Given the description of an element on the screen output the (x, y) to click on. 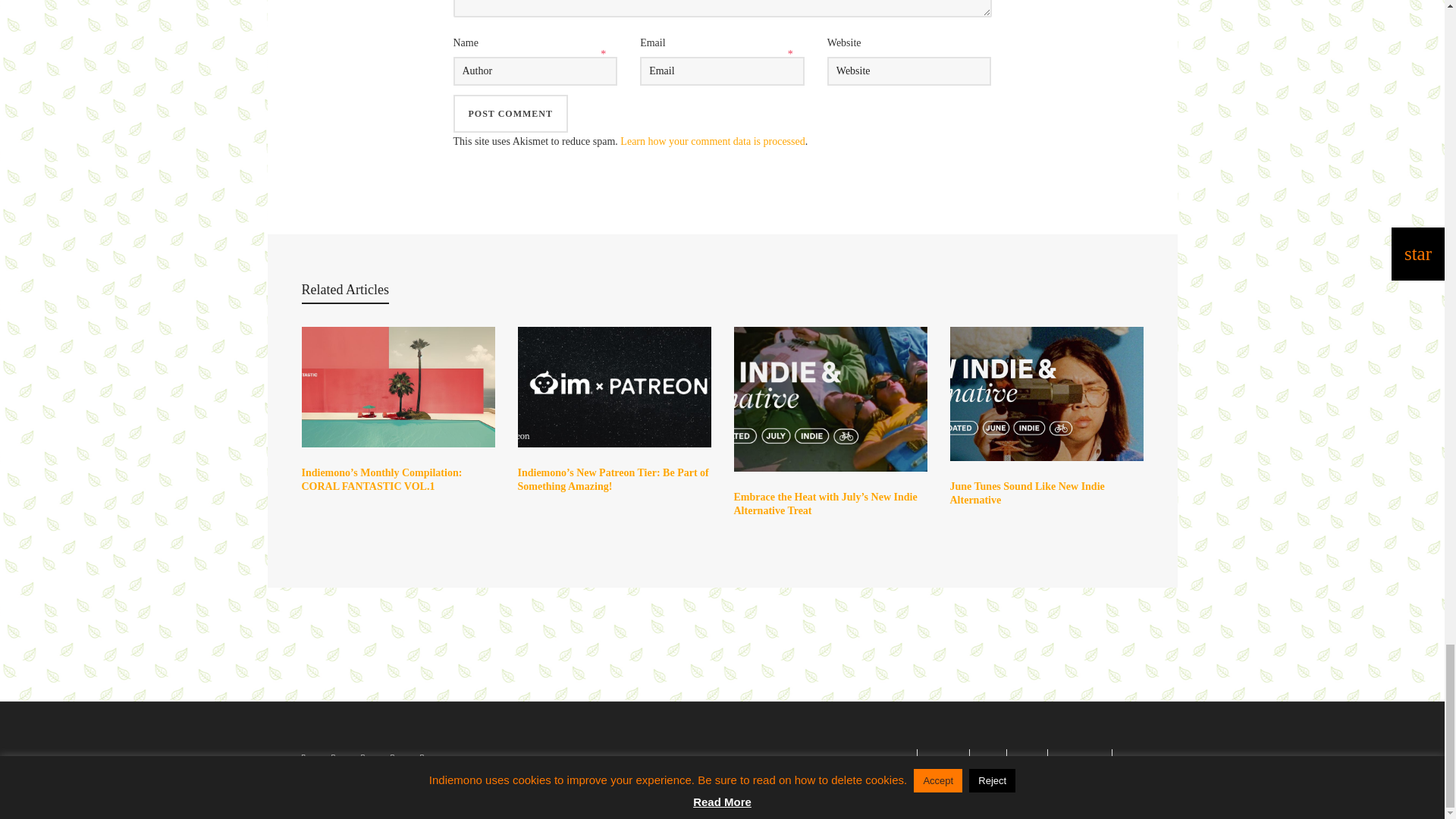
Post comment (509, 113)
Best selection! (943, 760)
Under Work (1026, 760)
